Given the description of an element on the screen output the (x, y) to click on. 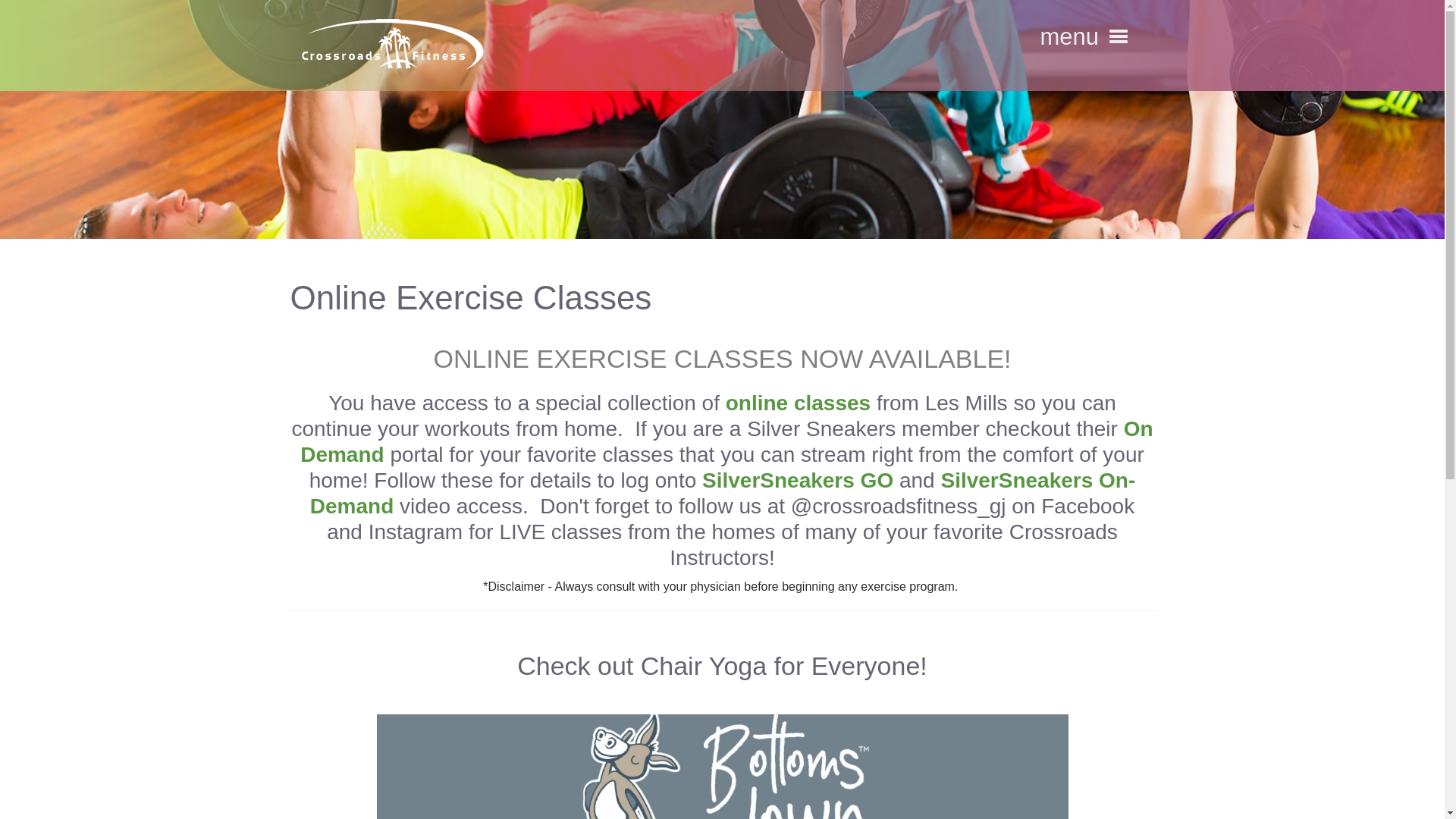
On Demand (726, 441)
online classes (797, 402)
SilverSneakers GO (797, 480)
Toggle navigation (1117, 36)
SilverSneakers On-Demand (722, 492)
